Given the description of an element on the screen output the (x, y) to click on. 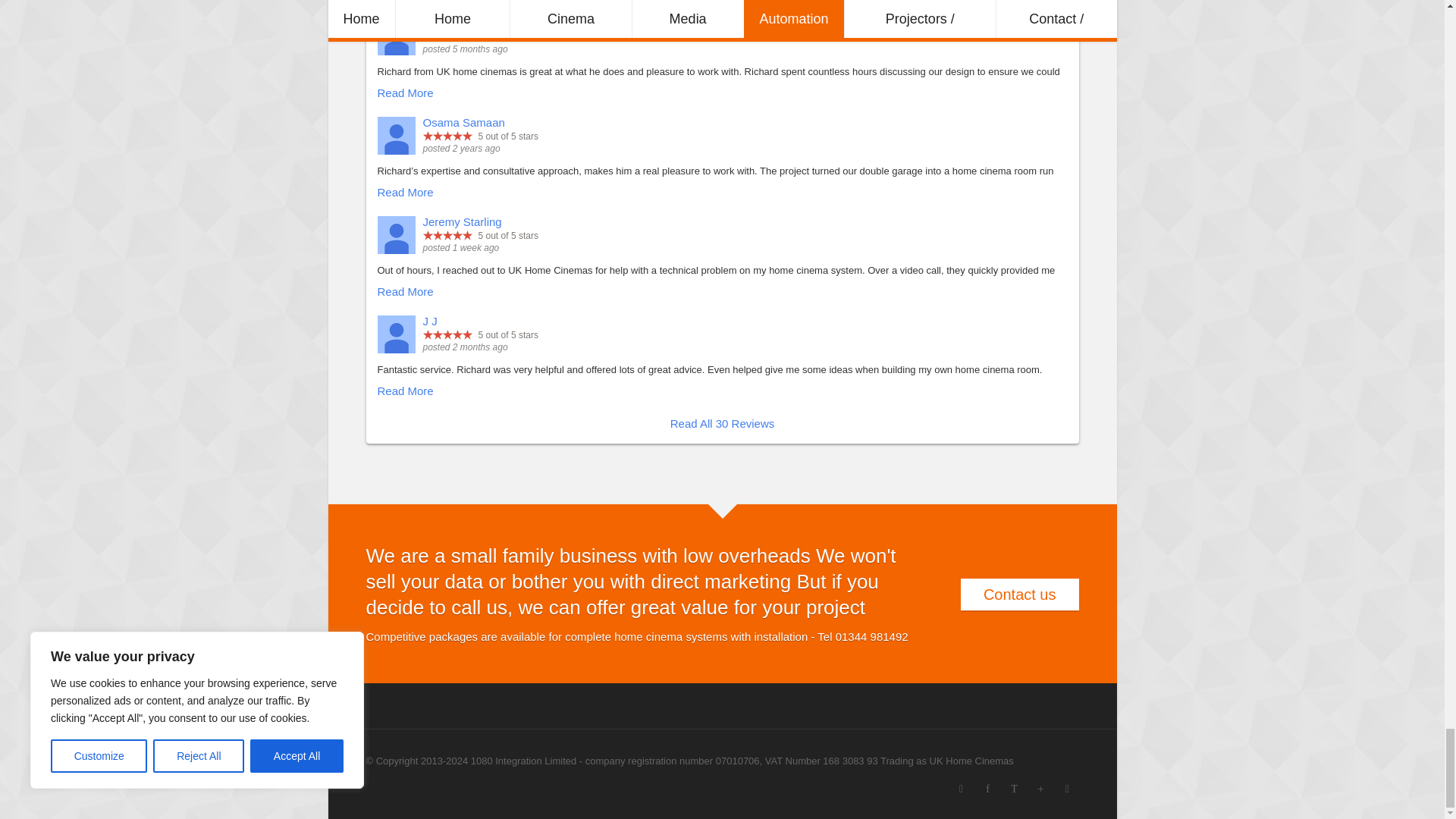
Osama Samaan (395, 135)
View this profile. (444, 22)
DVD fan (395, 36)
J J (395, 333)
Jeremy Starling (395, 234)
View this profile. (462, 221)
View this profile. (430, 320)
View this profile. (464, 122)
